Given the description of an element on the screen output the (x, y) to click on. 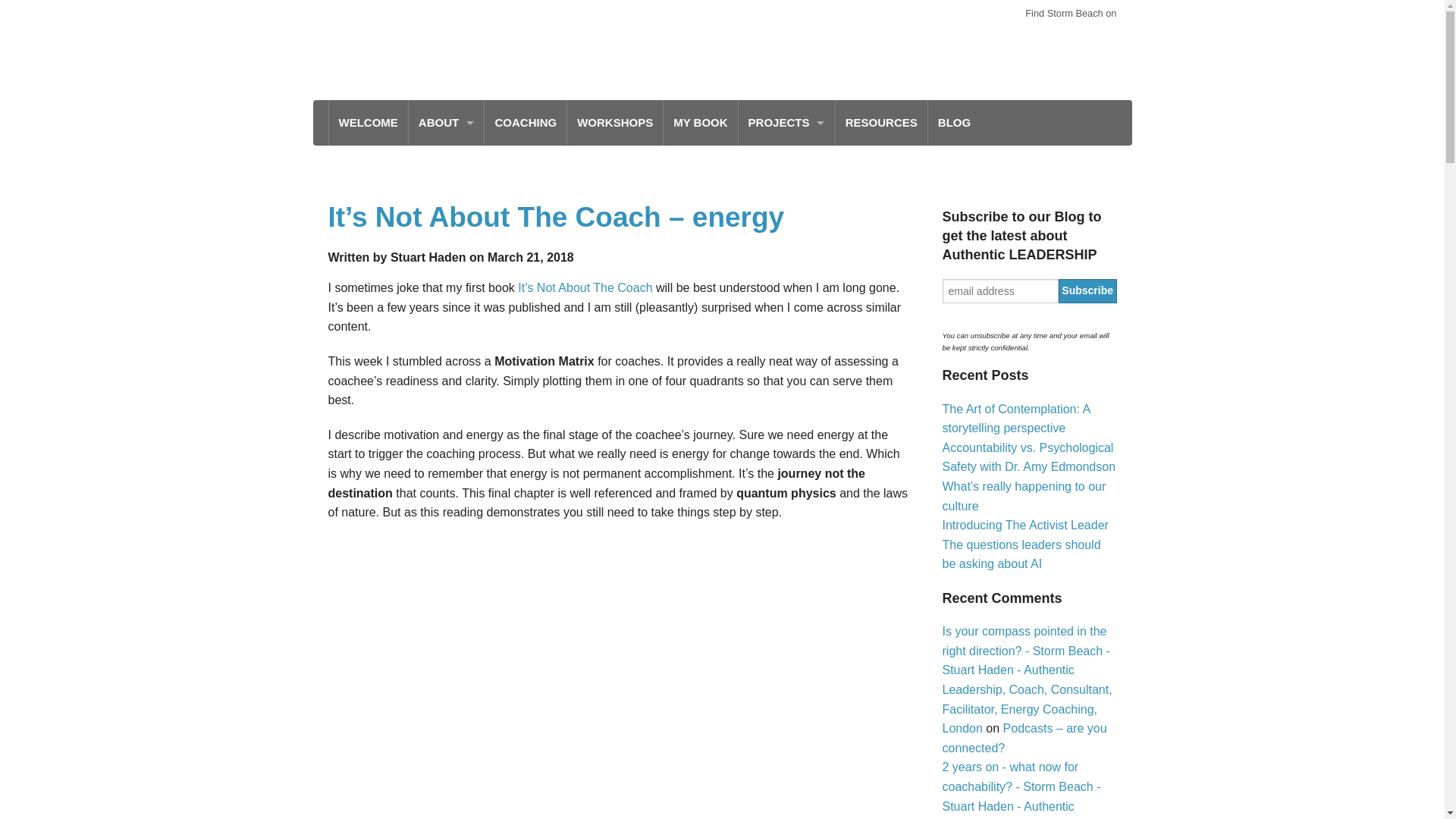
The questions leaders should be asking about AI (1021, 554)
WELCOME (368, 122)
Google Plus (1104, 37)
BLOG (953, 122)
COACHING (525, 122)
MY BOOK (699, 122)
ABOUT (446, 122)
YouTube (1043, 37)
Faceboook (983, 37)
LinkedIn (1074, 37)
